Given the description of an element on the screen output the (x, y) to click on. 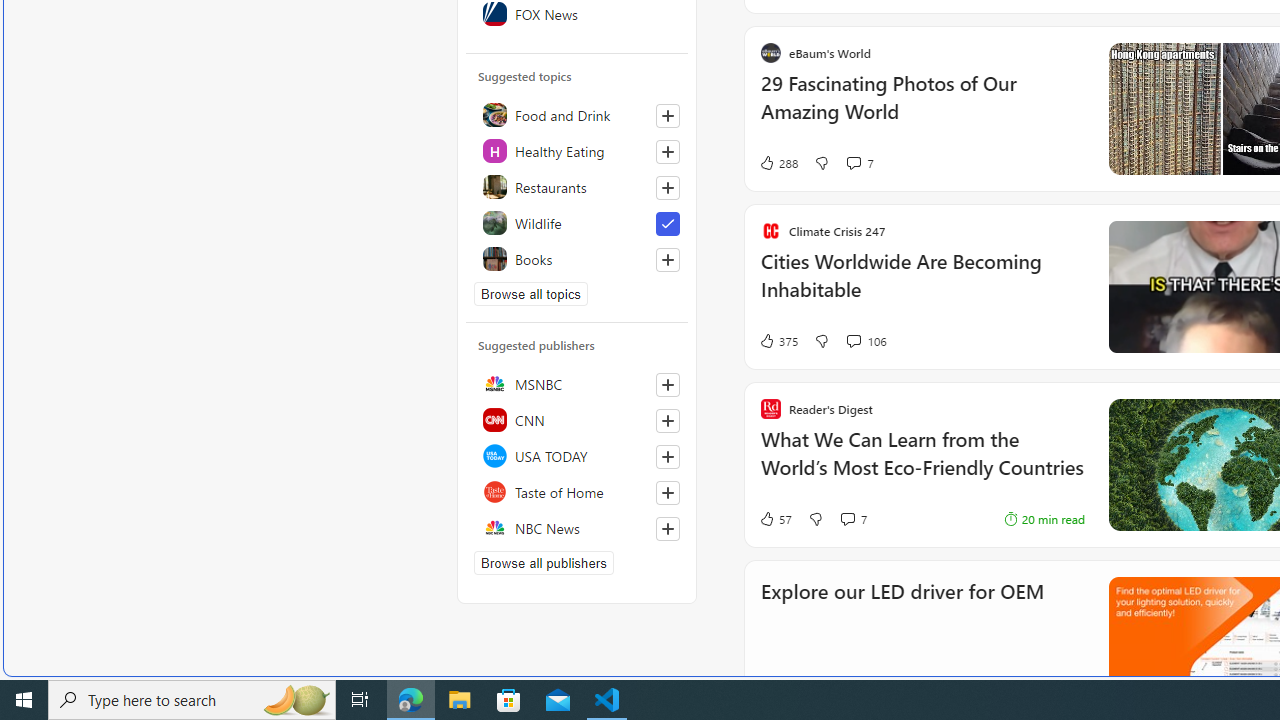
Explore our LED driver for OEM (902, 618)
Restaurants (577, 186)
View comments 106 Comment (852, 340)
Follow this source (667, 528)
Follow this source (667, 528)
Wildlife (577, 222)
Healthy Eating (577, 150)
Browse all topics (530, 294)
Food and Drink (577, 114)
View comments 106 Comment (865, 340)
Taste of Home (577, 492)
288 Like (778, 162)
View comments 7 Comment (852, 518)
